Given the description of an element on the screen output the (x, y) to click on. 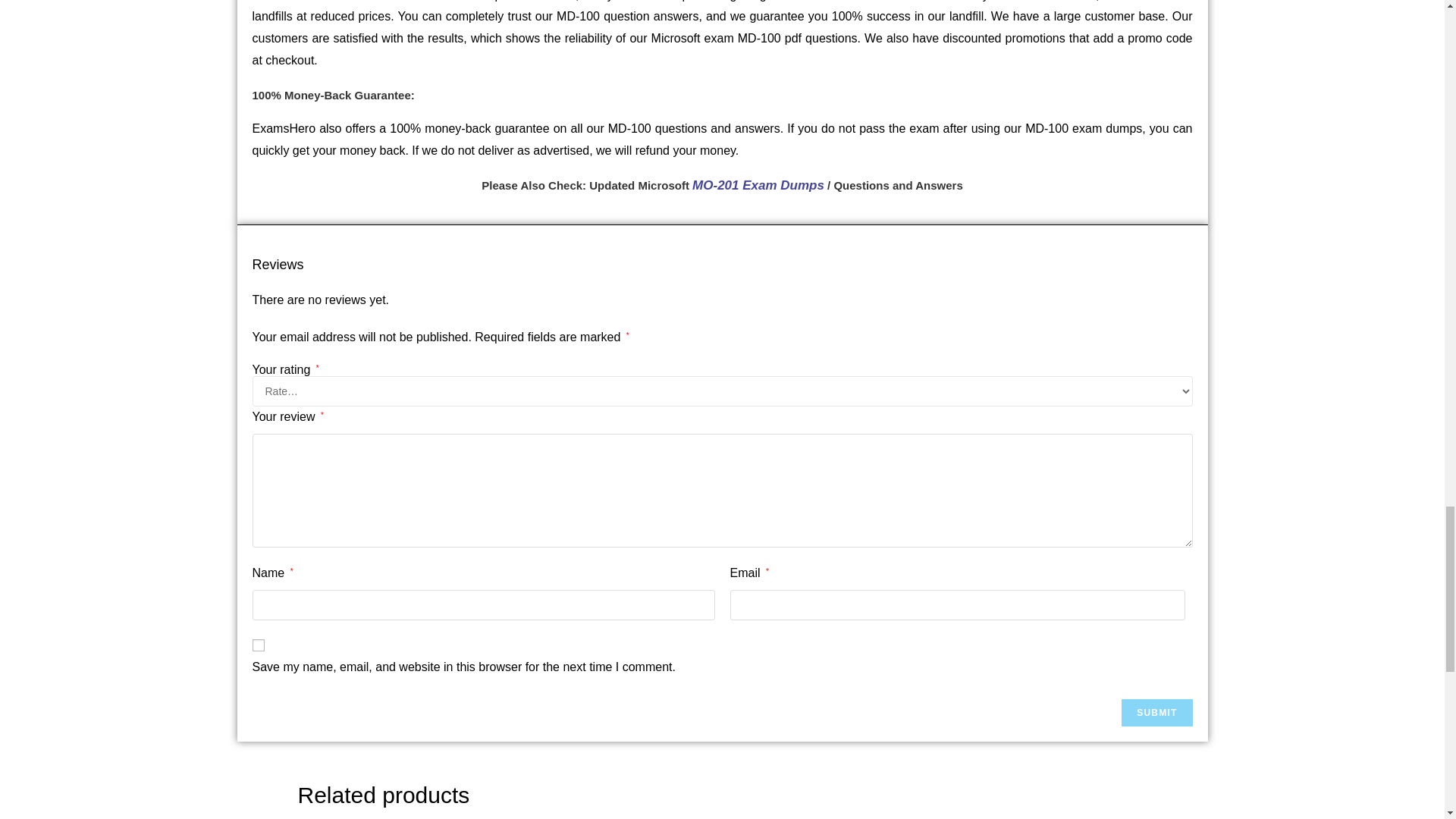
Submit (1156, 712)
Submit (1156, 712)
yes (257, 645)
MO-201 Exam Dumps (758, 185)
